Given the description of an element on the screen output the (x, y) to click on. 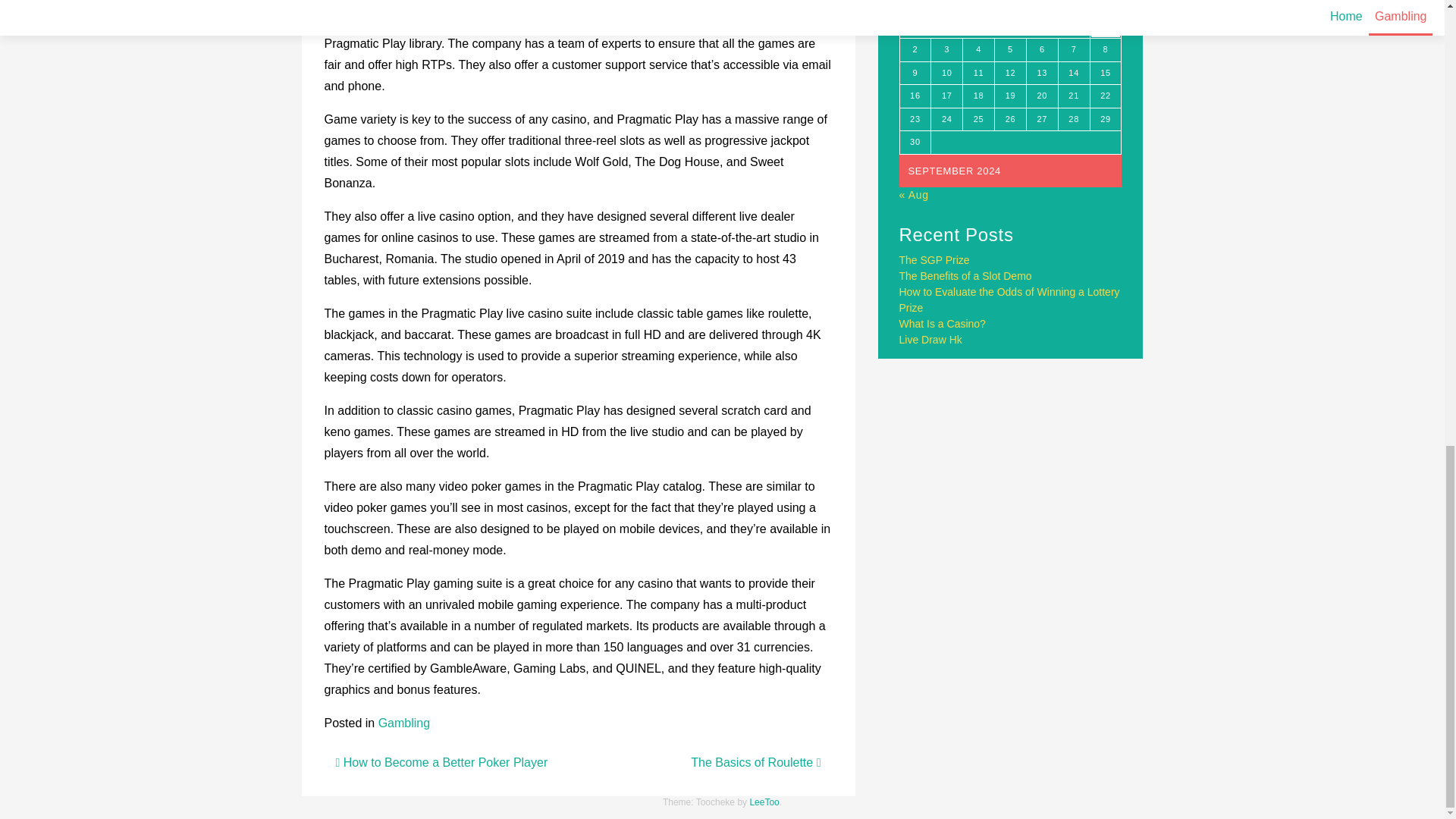
Tuesday (946, 7)
Monday (915, 7)
Friday (1042, 7)
Gambling (403, 722)
Saturday (1073, 7)
Thursday (1010, 7)
Wednesday (978, 7)
The Basics of Roulette  (755, 762)
 How to Become a Better Poker Player (440, 762)
Sunday (1105, 7)
